Given the description of an element on the screen output the (x, y) to click on. 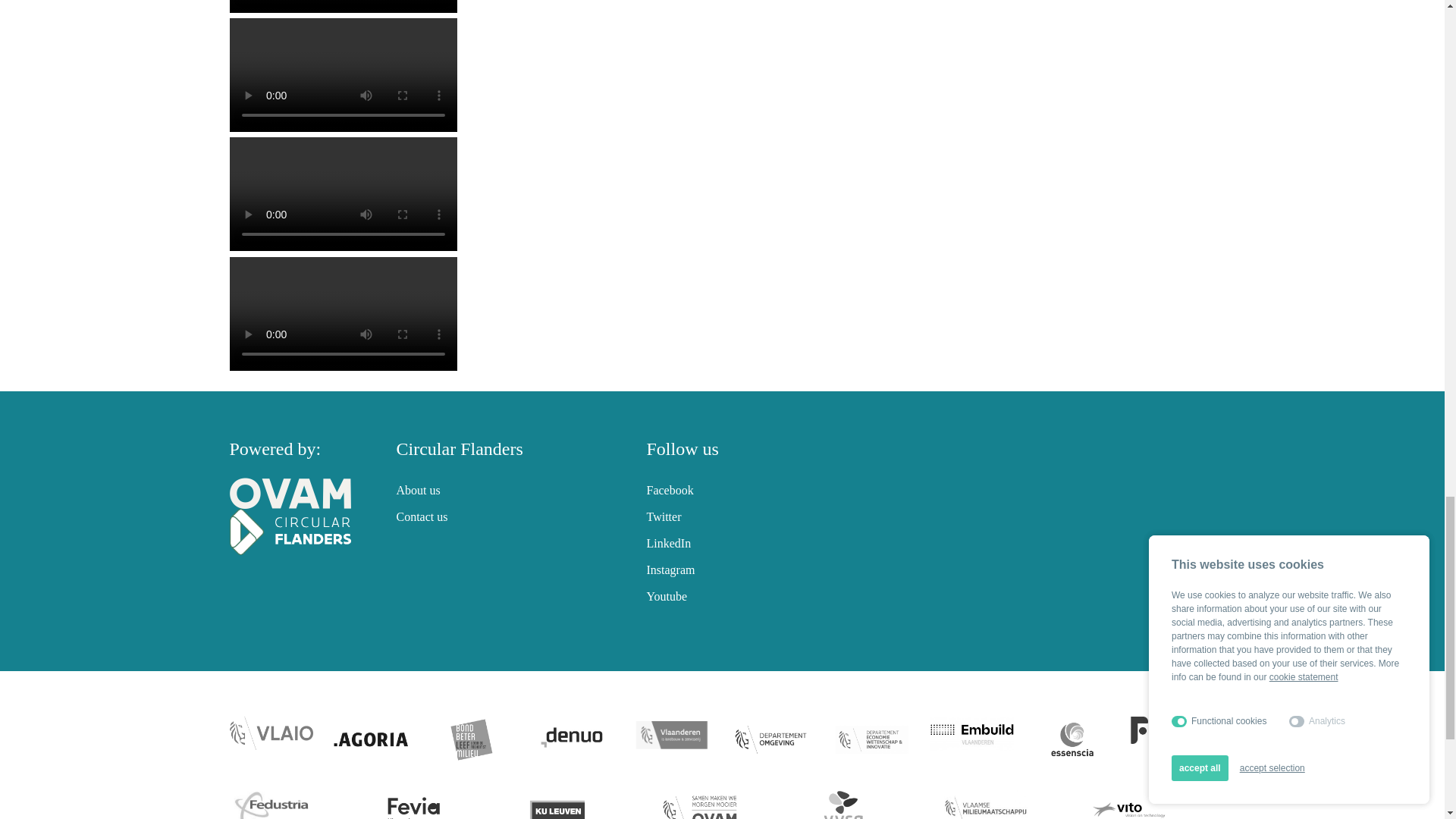
Contact us (421, 516)
LinkedIn (668, 543)
About us (417, 490)
Facebook (669, 490)
Instagram (670, 569)
Twitter (663, 516)
Youtube (666, 595)
